Given the description of an element on the screen output the (x, y) to click on. 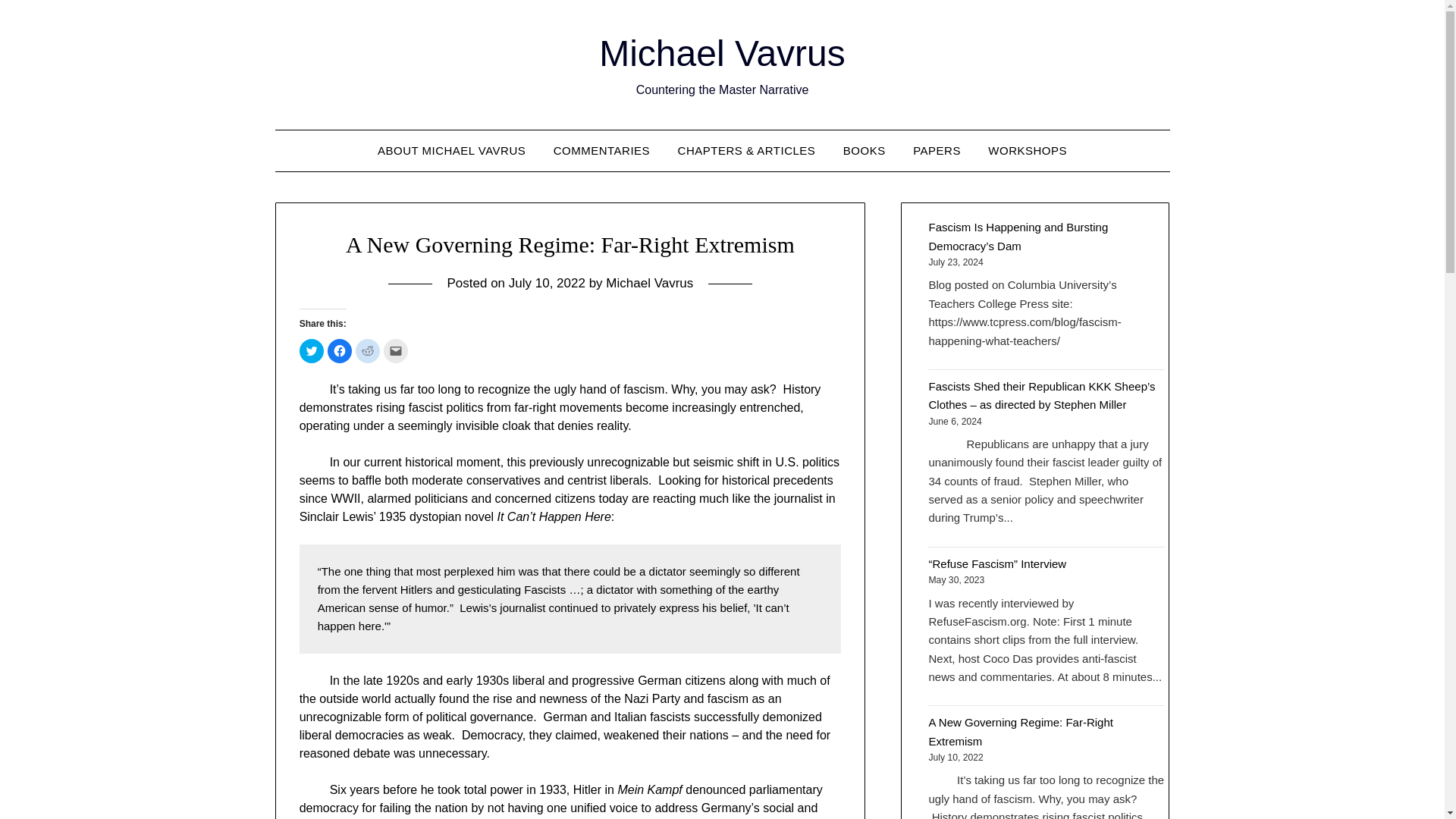
Click to email a link to a friend (395, 351)
Michael Vavrus (649, 283)
A New Governing Regime: Far-Right Extremism (1020, 730)
Michael Vavrus (721, 53)
July 10, 2022 (546, 283)
WORKSHOPS (1026, 150)
BOOKS (864, 150)
Click to share on Facebook (339, 351)
PAPERS (936, 150)
COMMENTARIES (601, 150)
Click to share on Reddit (367, 351)
ABOUT MICHAEL VAVRUS (451, 150)
Click to share on Twitter (311, 351)
